Given the description of an element on the screen output the (x, y) to click on. 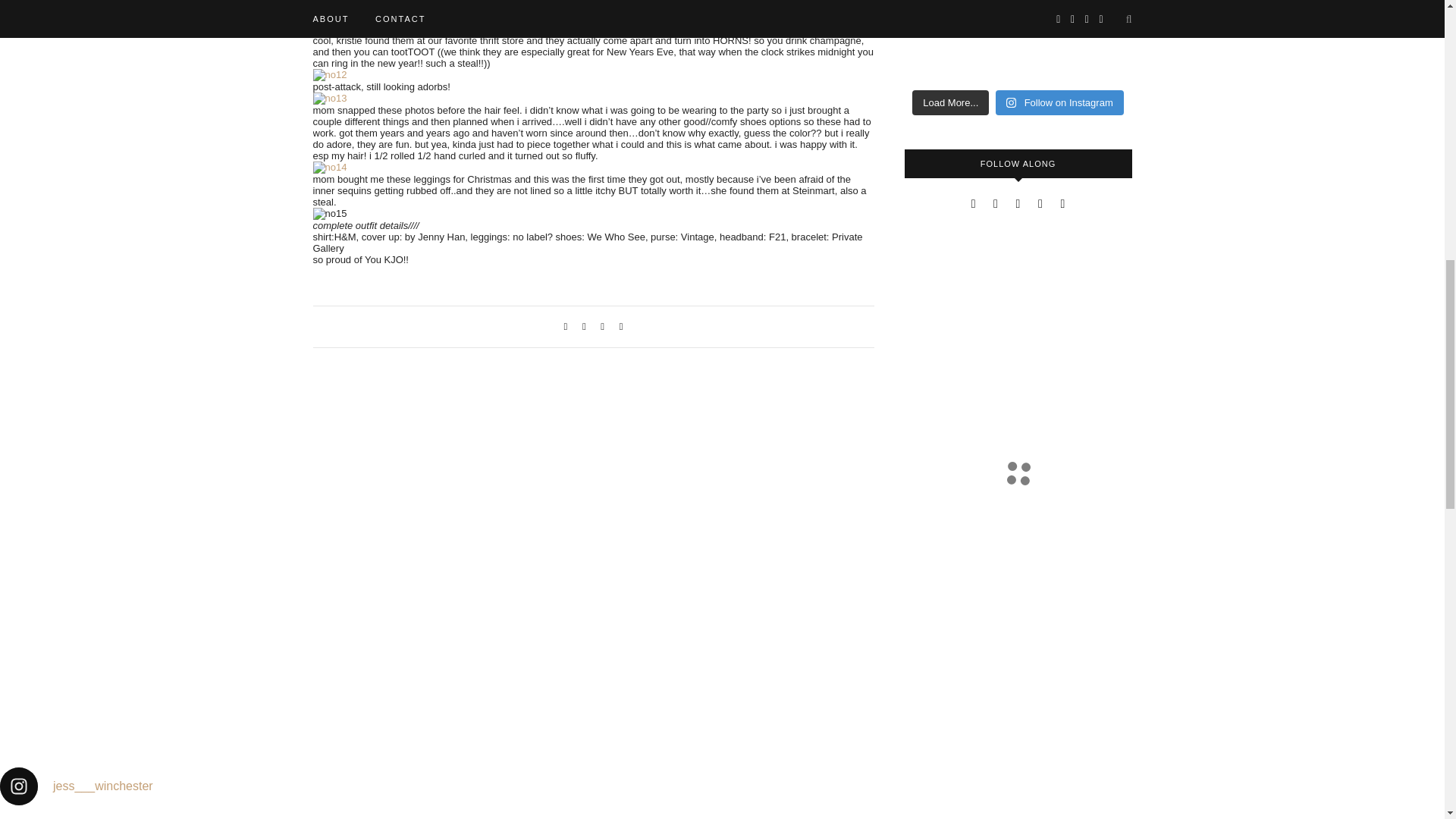
no11 by hippiefroufrou2008, on Flickr (329, 16)
no13 by hippiefroufrou2008, on Flickr (329, 98)
no14 by hippiefroufrou2008, on Flickr (329, 166)
Follow on Instagram (1059, 103)
Load More... (950, 103)
no12 by hippiefroufrou2008, on Flickr (329, 74)
